Given the description of an element on the screen output the (x, y) to click on. 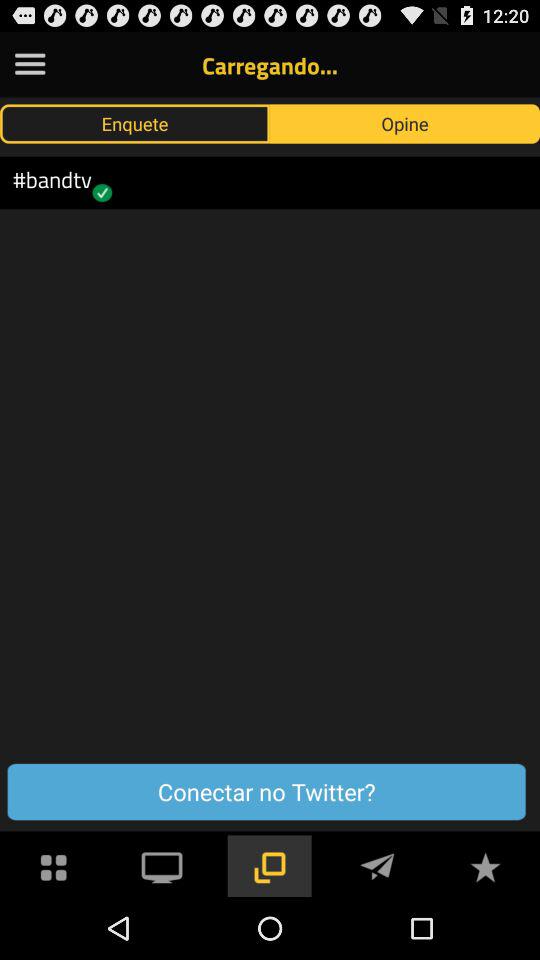
tap the icon below conectar no twitter? button (485, 864)
